Given the description of an element on the screen output the (x, y) to click on. 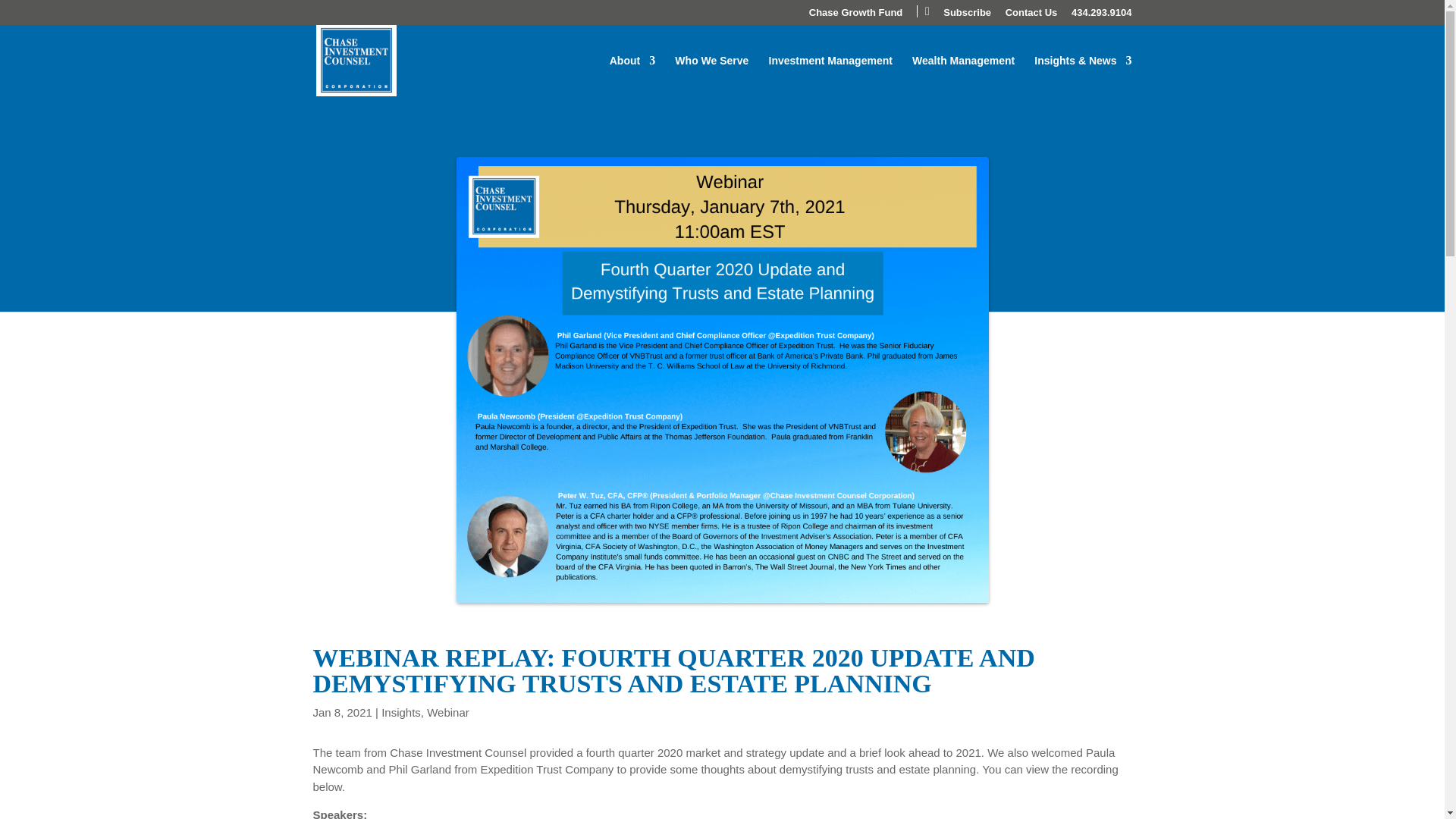
Investment Management (830, 75)
Subscribe (967, 16)
Webinar (447, 712)
Contact Us (1032, 16)
About (632, 75)
Insights (400, 712)
434.293.9104 (1101, 16)
Chase Growth Fund (855, 16)
Who We Serve (711, 75)
Wealth Management (963, 75)
